Given the description of an element on the screen output the (x, y) to click on. 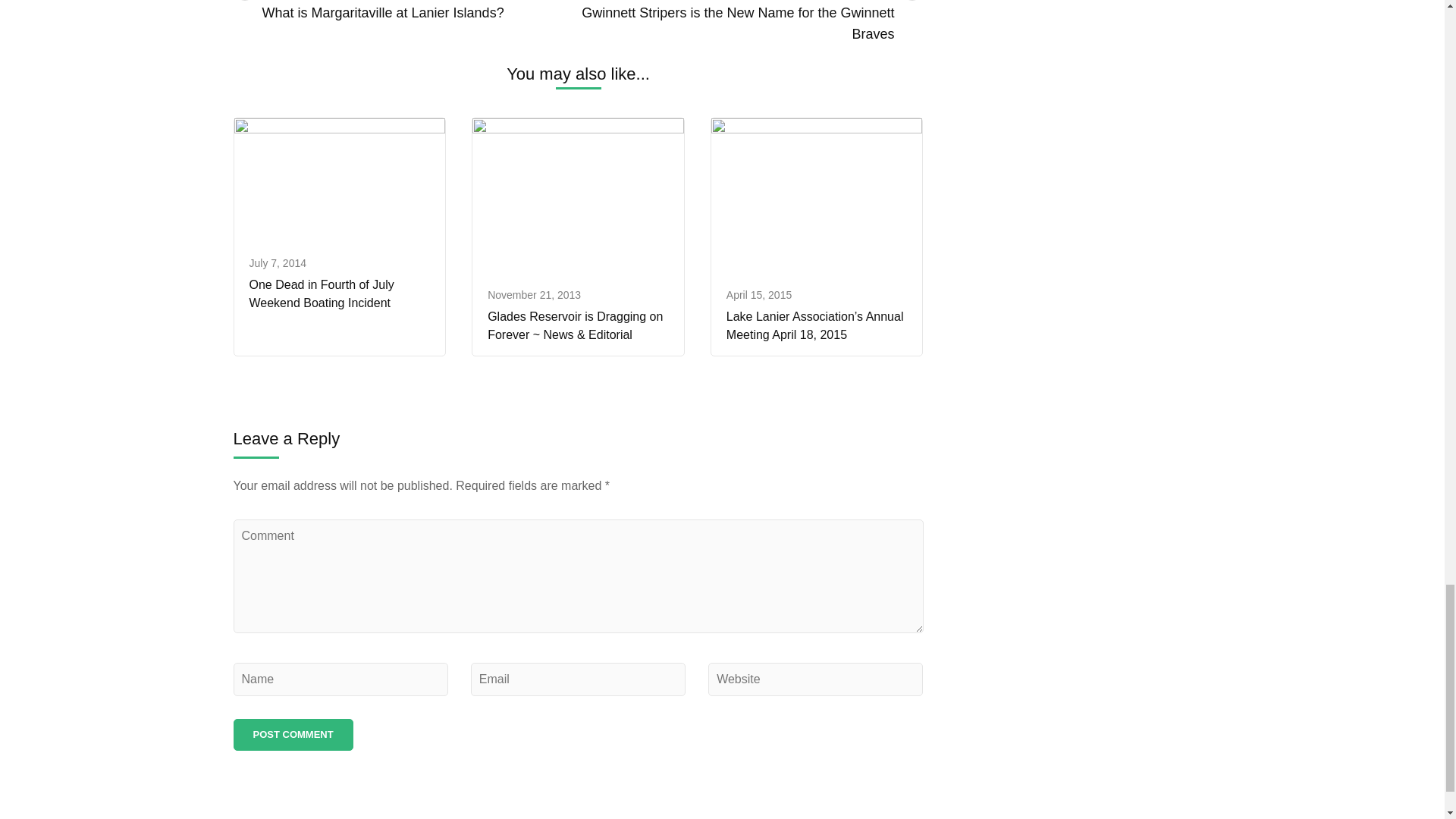
Post Comment (292, 735)
